Given the description of an element on the screen output the (x, y) to click on. 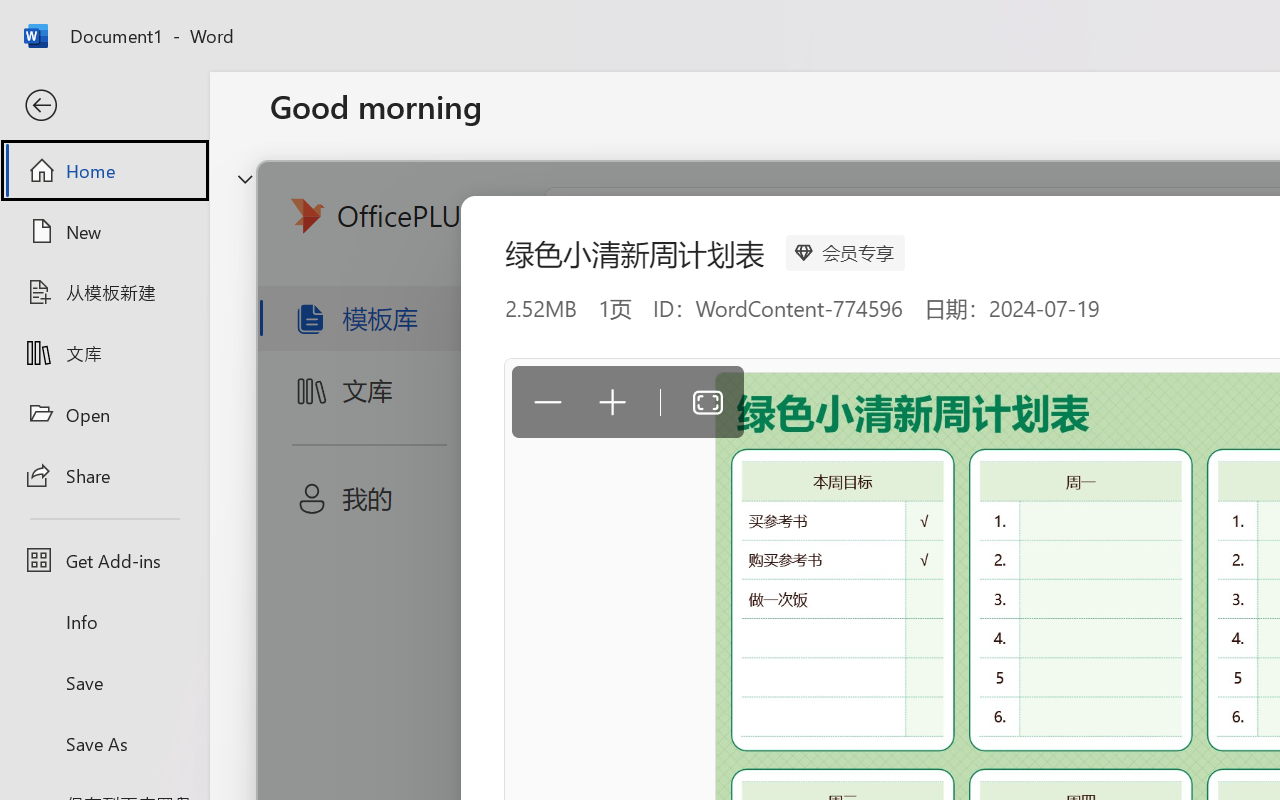
Pinned (417, 636)
Get Add-ins (104, 560)
Recent (316, 636)
New (104, 231)
Save As (104, 743)
Shared with Me (563, 636)
